Given the description of an element on the screen output the (x, y) to click on. 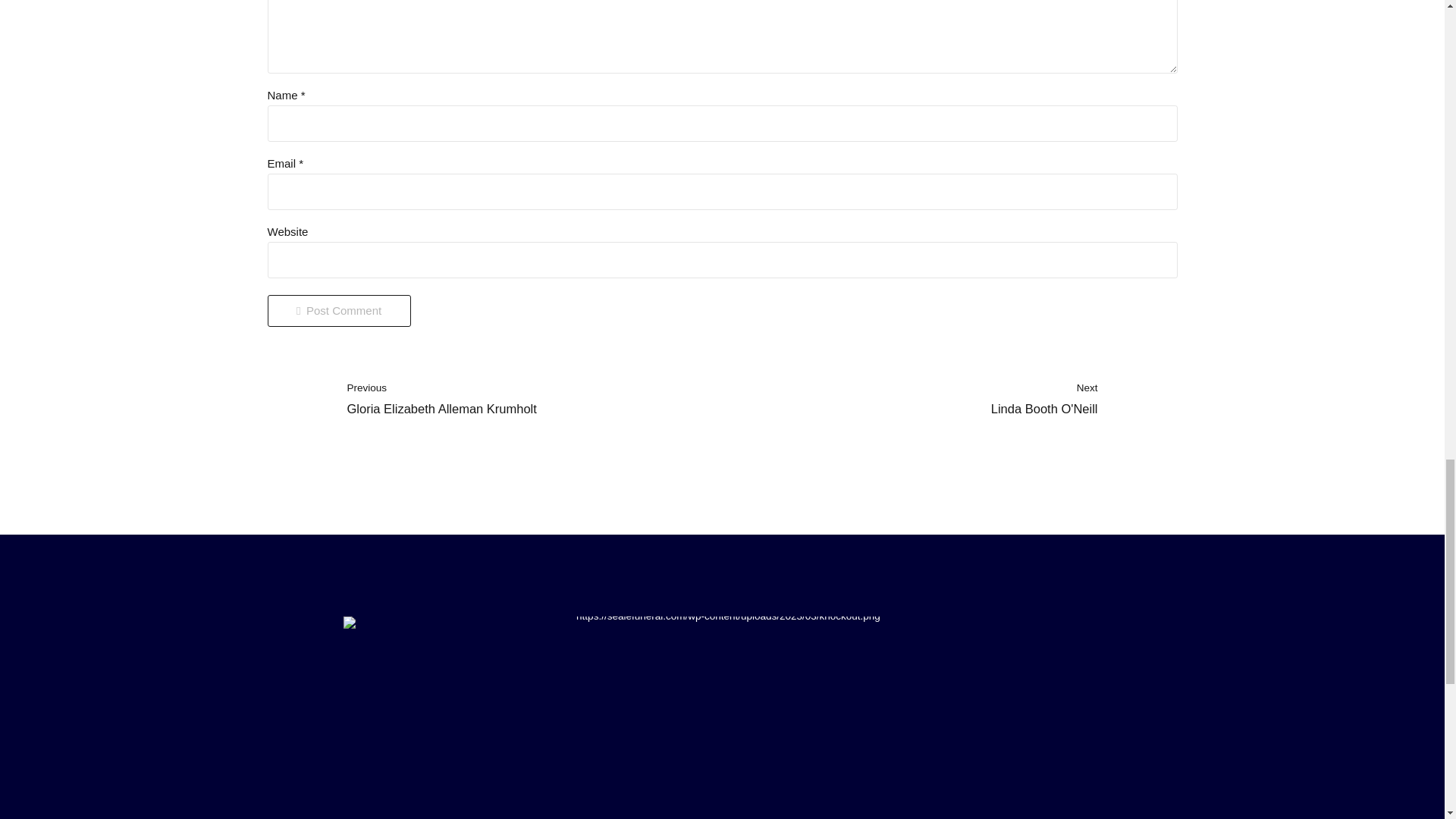
Post Comment (949, 398)
knockout (338, 310)
